Given the description of an element on the screen output the (x, y) to click on. 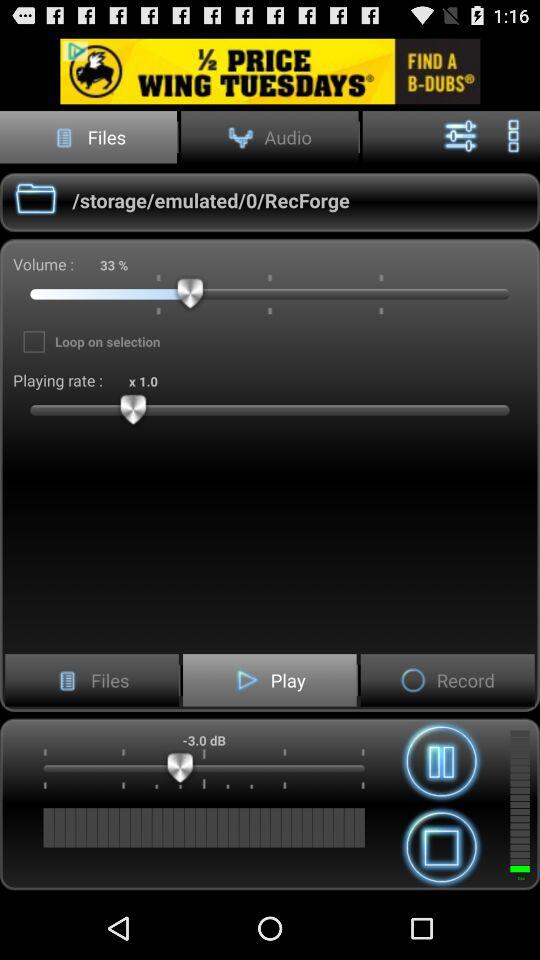
advertisement option (270, 70)
